Given the description of an element on the screen output the (x, y) to click on. 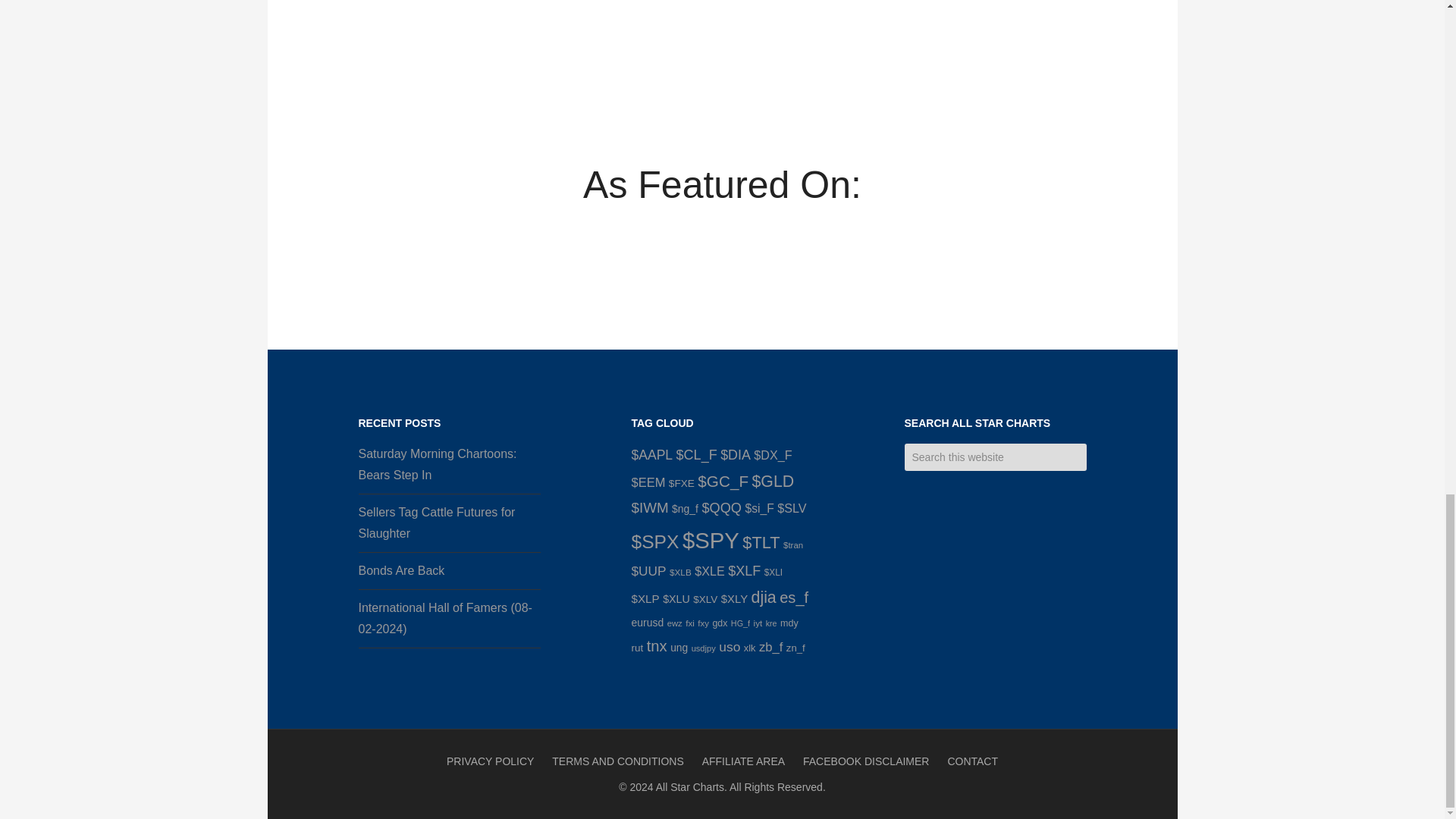
Search (1097, 450)
Search (1097, 450)
